Given the description of an element on the screen output the (x, y) to click on. 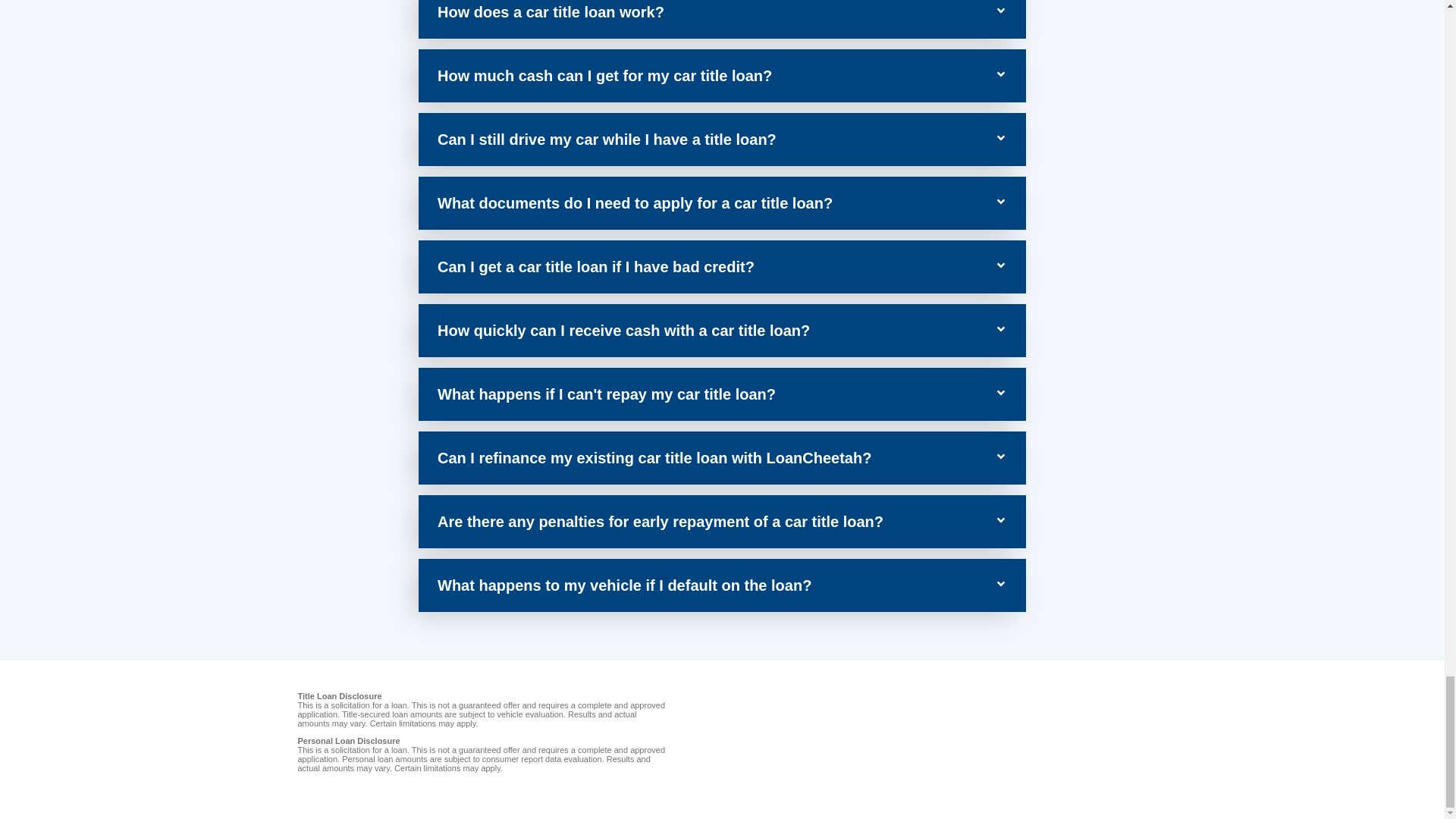
What documents do I need to apply for a car title loan? (635, 202)
How much cash can I get for my car title loan? (604, 75)
Can I still drive my car while I have a title loan? (607, 139)
Can I get a car title loan if I have bad credit? (596, 266)
How does a car title loan work? (550, 12)
